Given the description of an element on the screen output the (x, y) to click on. 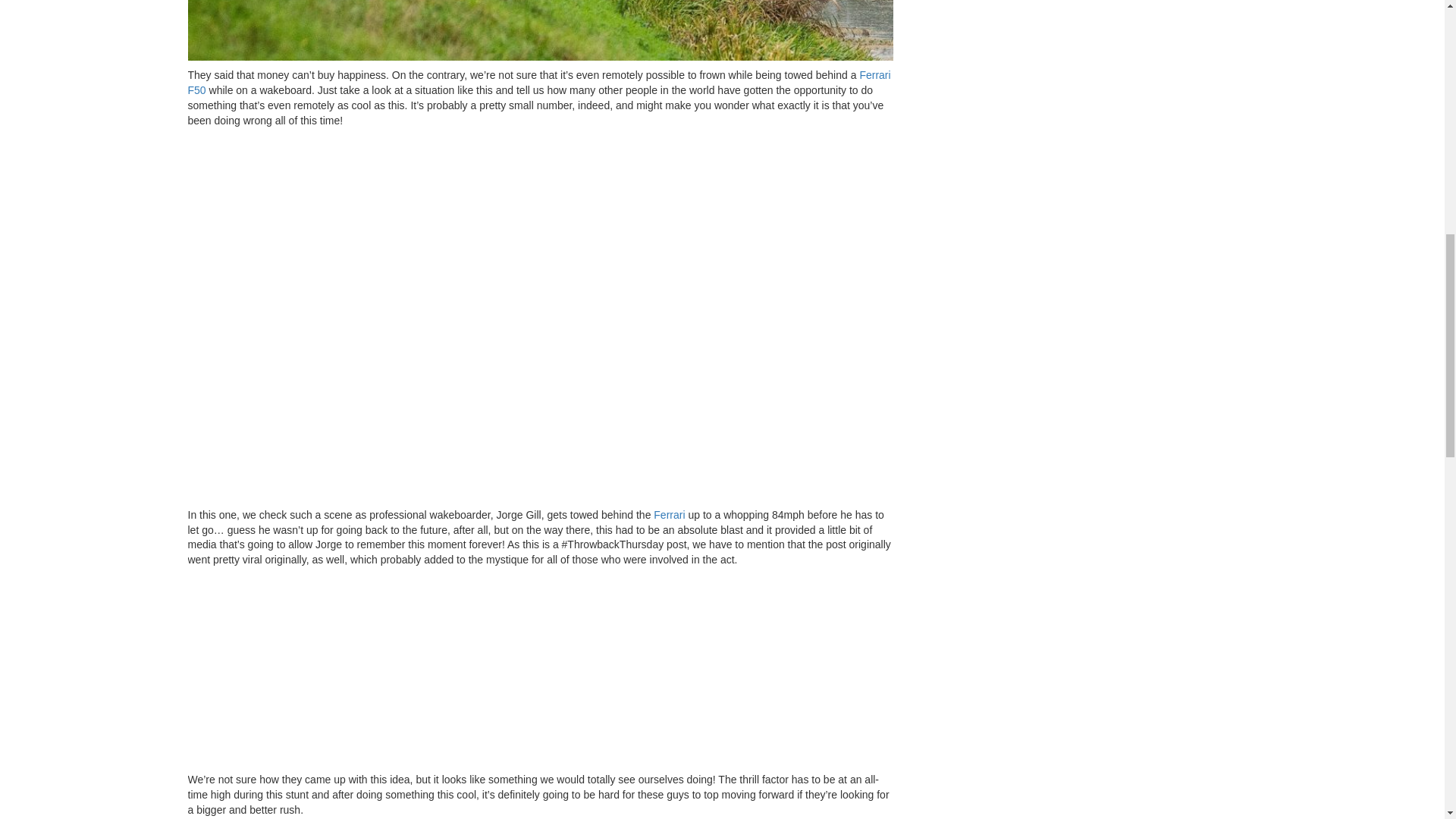
Ferrari (668, 514)
Drifting With the Ferrari F12 Berlinetta (668, 514)
Ferrari F50 (539, 82)
Ferrari F50 Crashes In The U.K. (539, 82)
